Given the description of an element on the screen output the (x, y) to click on. 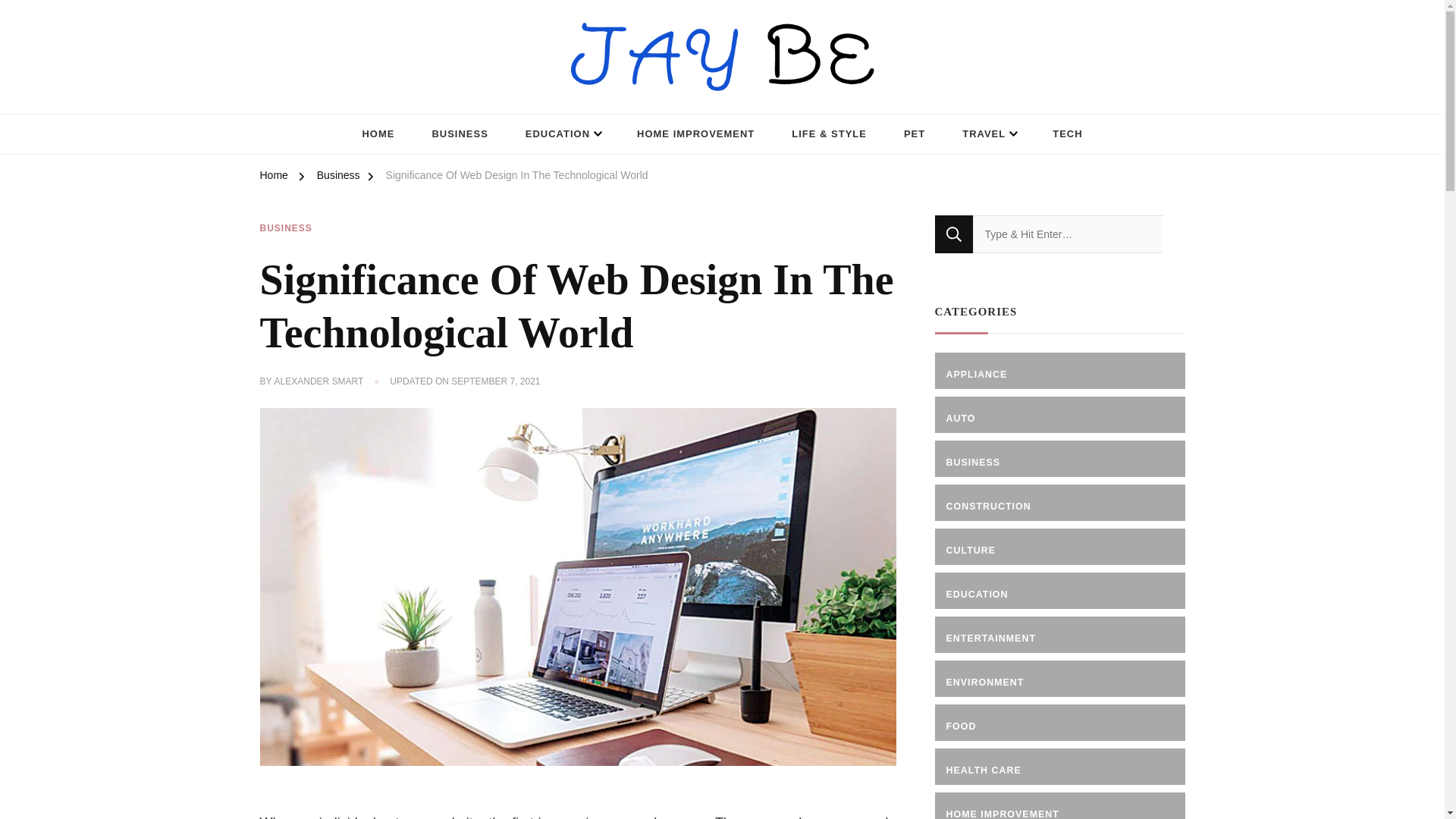
Search (953, 234)
TRAVEL (988, 134)
HOME IMPROVEMENT (695, 134)
BUSINESS (458, 134)
SEPTEMBER 7, 2021 (495, 382)
BUSINESS (285, 228)
Search (953, 234)
PET (914, 134)
TECH (1067, 134)
Home (272, 177)
ALEXANDER SMART (319, 382)
Significance Of Web Design In The Technological World (516, 177)
Business (338, 177)
HOME (377, 134)
EDUCATION (561, 134)
